Given the description of an element on the screen output the (x, y) to click on. 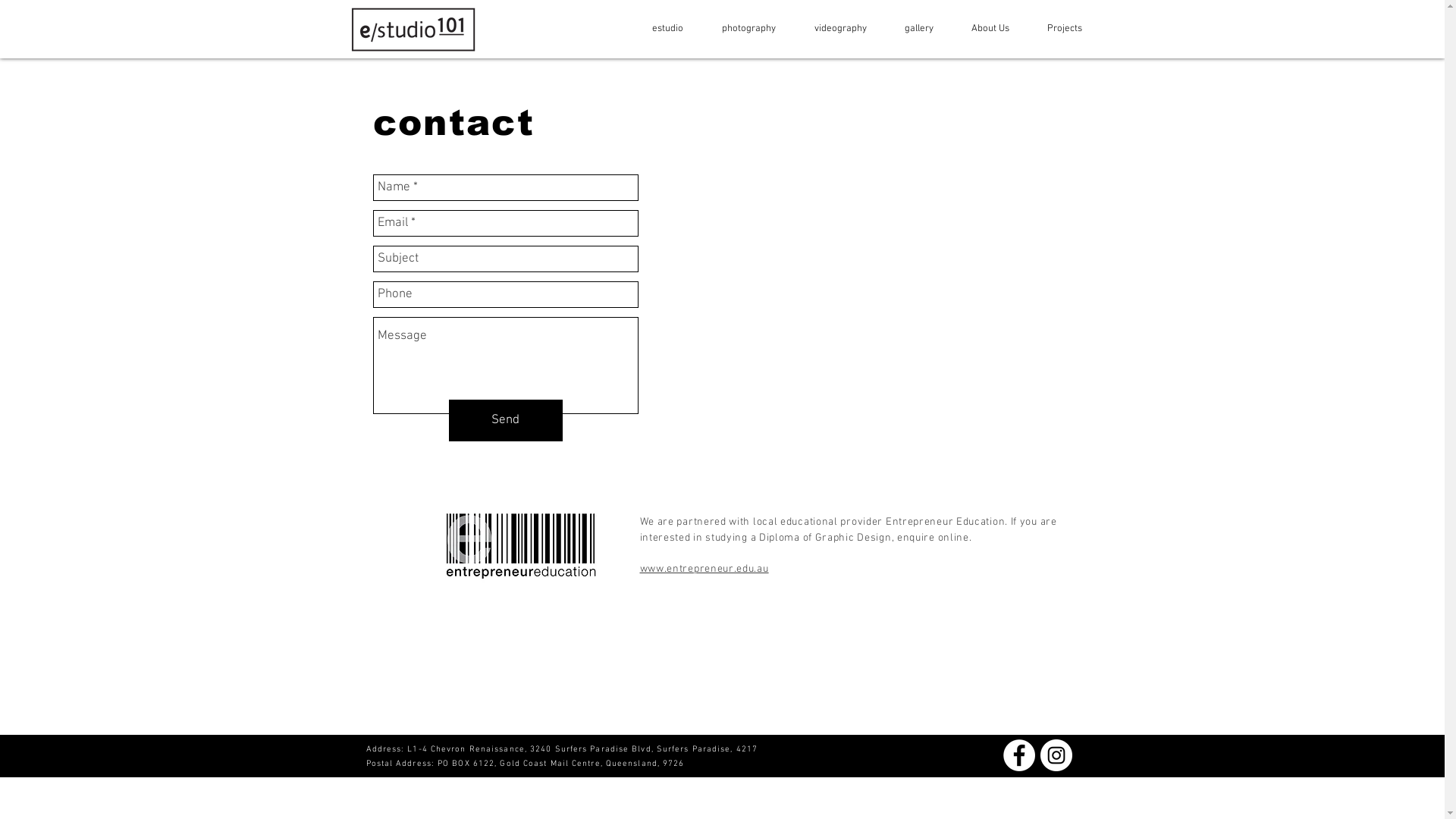
estudio Element type: text (658, 28)
Google Maps Element type: hover (861, 297)
photography Element type: text (740, 28)
Send Element type: text (505, 420)
Projects Element type: text (1056, 28)
About Us Element type: text (982, 28)
www.entrepreneur.edu.au Element type: text (704, 567)
gallery Element type: text (911, 28)
videography Element type: text (832, 28)
